Given the description of an element on the screen output the (x, y) to click on. 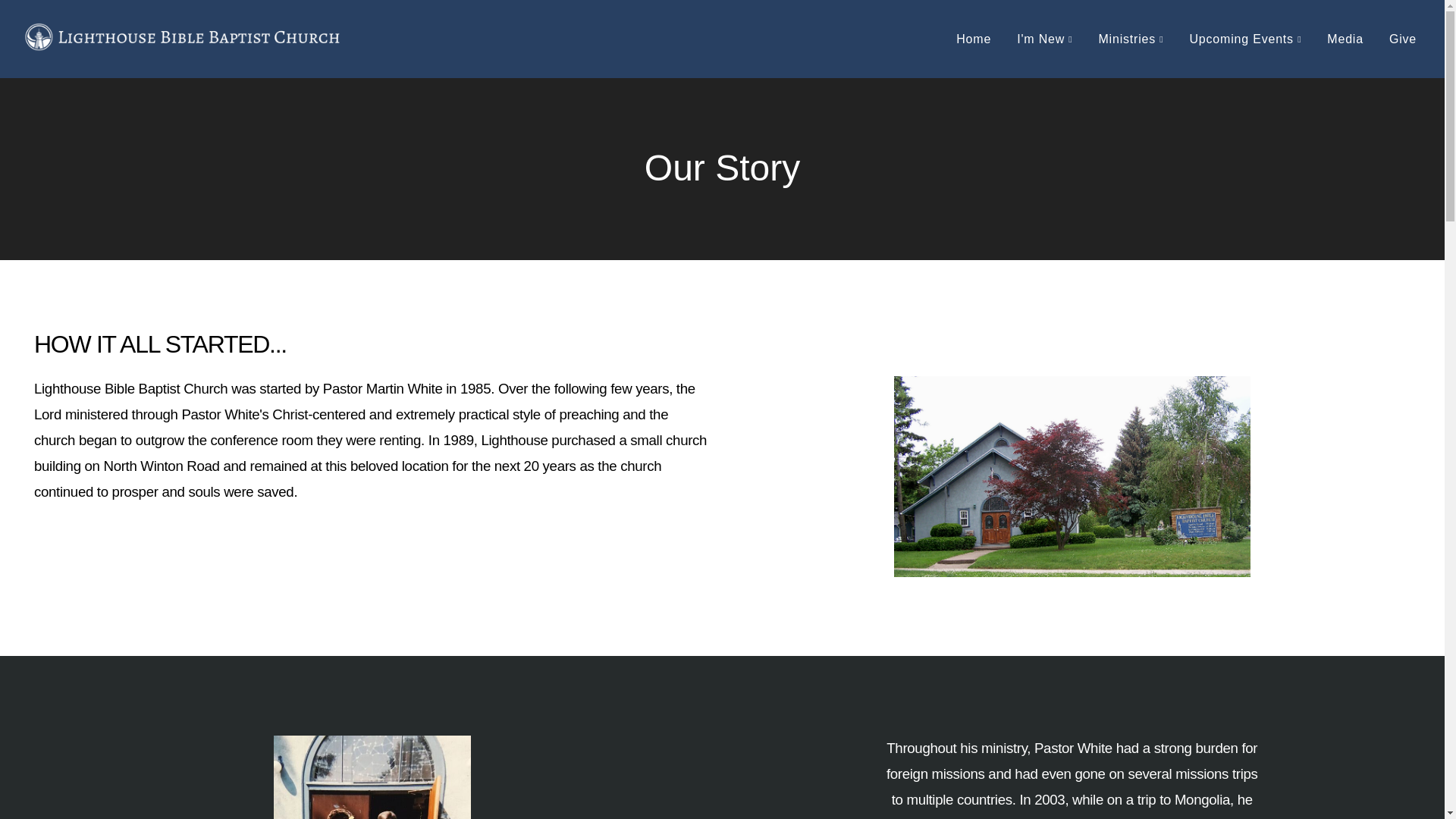
Give (1402, 39)
Home (973, 39)
Media (1345, 39)
Ministries  (1130, 39)
Upcoming Events  (1245, 39)
I'm New  (1044, 39)
